Given the description of an element on the screen output the (x, y) to click on. 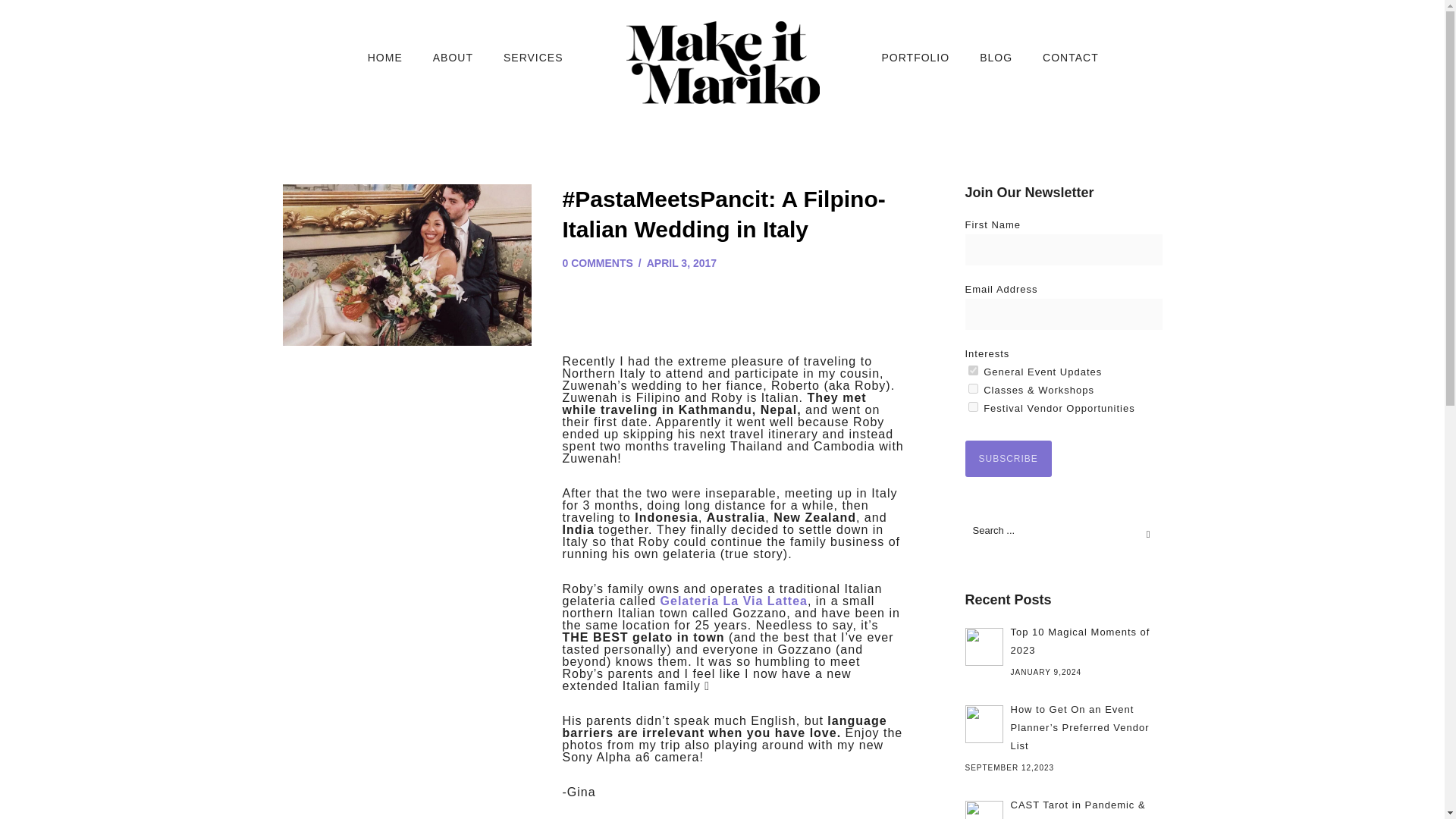
ef3743ebff (972, 370)
ABOUT (452, 57)
ABOUT (452, 57)
HOME (384, 57)
6cfaf4e3a2 (972, 406)
ecc0651df9 (972, 388)
SERVICES (532, 57)
HOME (384, 57)
0 COMMENTS (597, 263)
Gelateria La Via Lattea (734, 600)
